Given the description of an element on the screen output the (x, y) to click on. 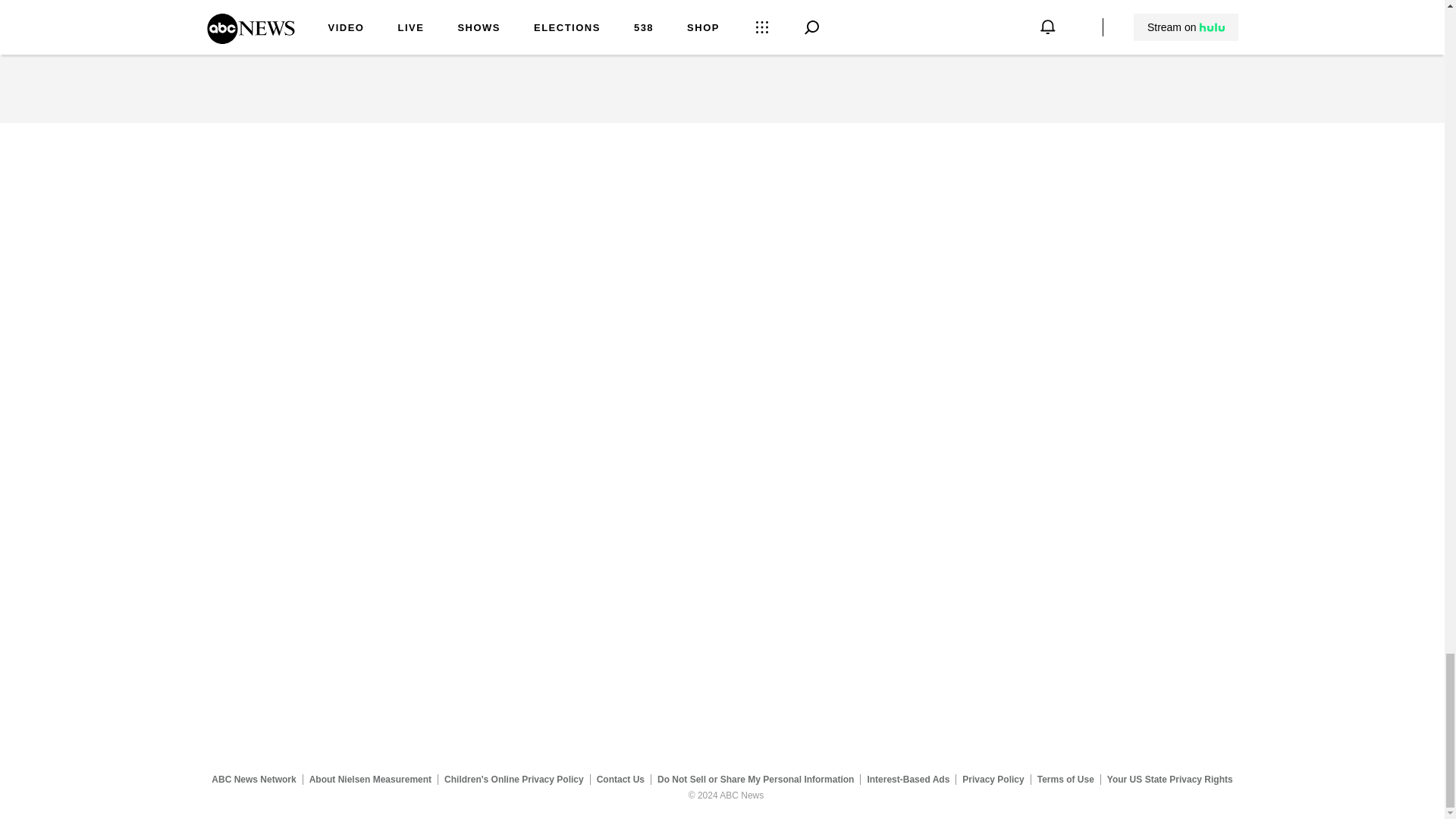
Children's Online Privacy Policy (514, 778)
Interest-Based Ads (908, 778)
Privacy Policy (993, 778)
Do Not Sell or Share My Personal Information (755, 778)
About Nielsen Measurement (370, 778)
ABC News Network (253, 778)
Terms of Use (1065, 778)
Your US State Privacy Rights (1169, 778)
Contact Us (620, 778)
